Given the description of an element on the screen output the (x, y) to click on. 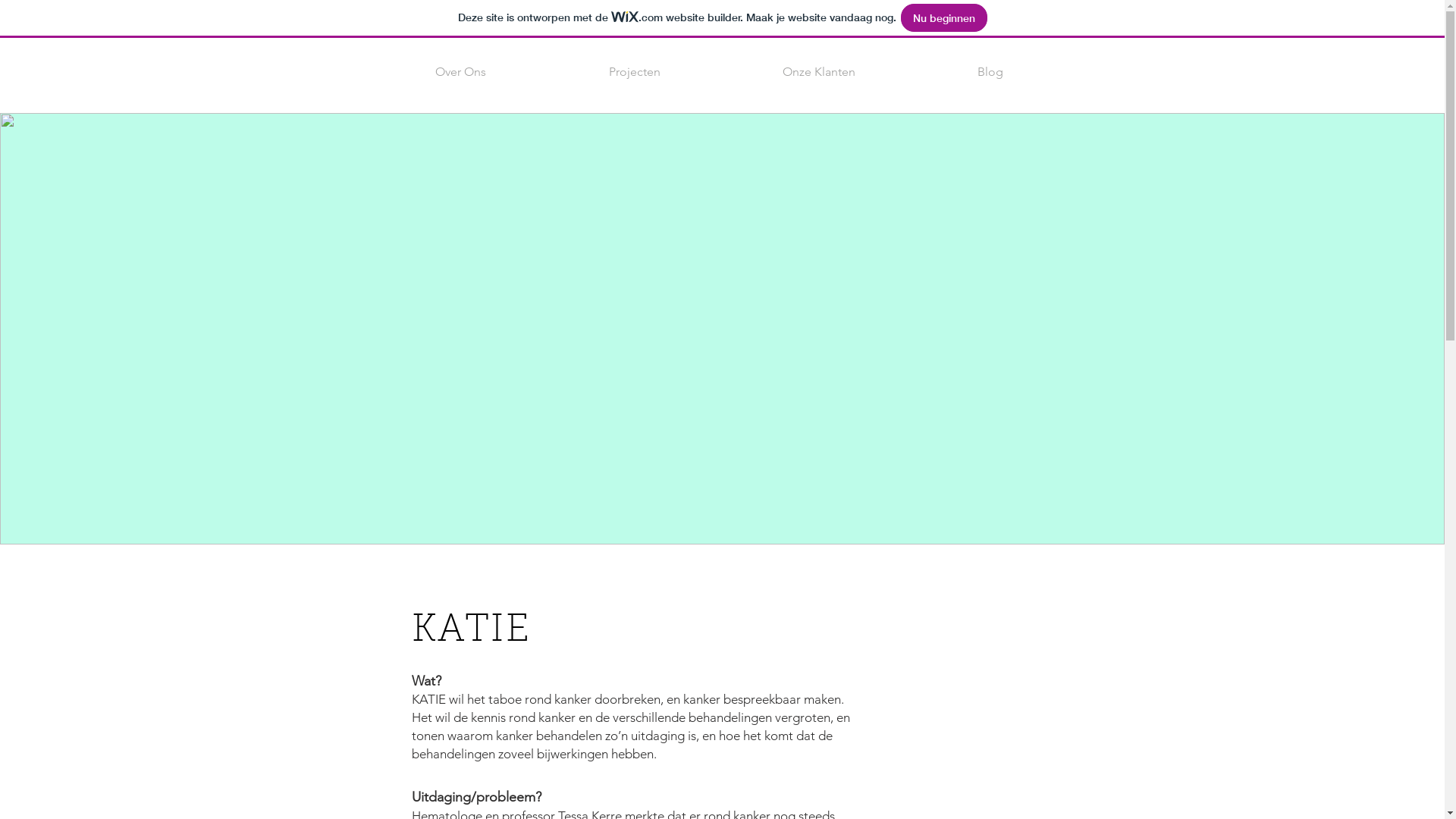
Blog Element type: text (989, 71)
Projecten Element type: text (634, 71)
Onze Klanten Element type: text (818, 71)
Over Ons Element type: text (459, 71)
